Given the description of an element on the screen output the (x, y) to click on. 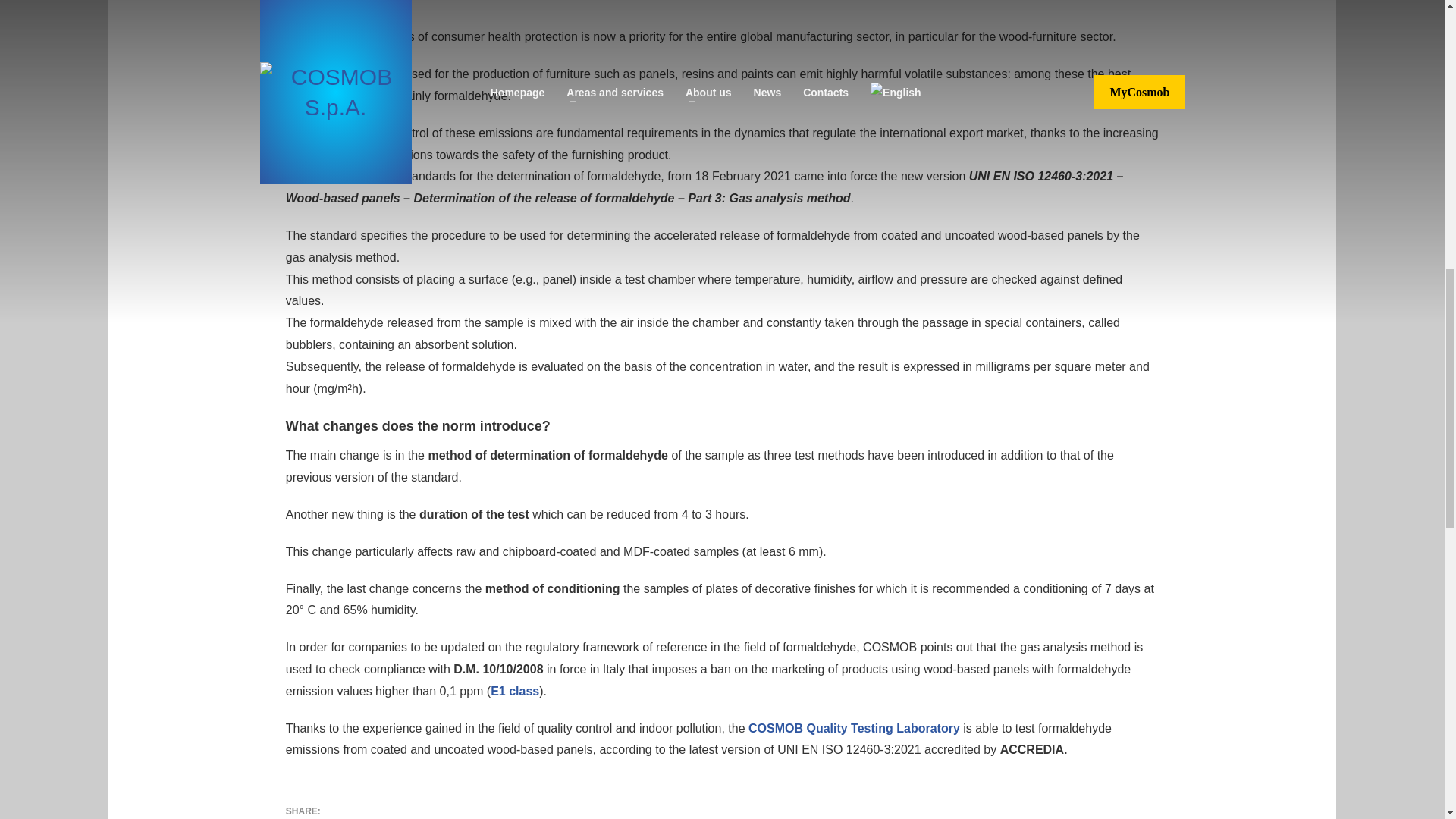
E1 class (514, 690)
COSMOB Quality Testing Laboratory (855, 727)
